Given the description of an element on the screen output the (x, y) to click on. 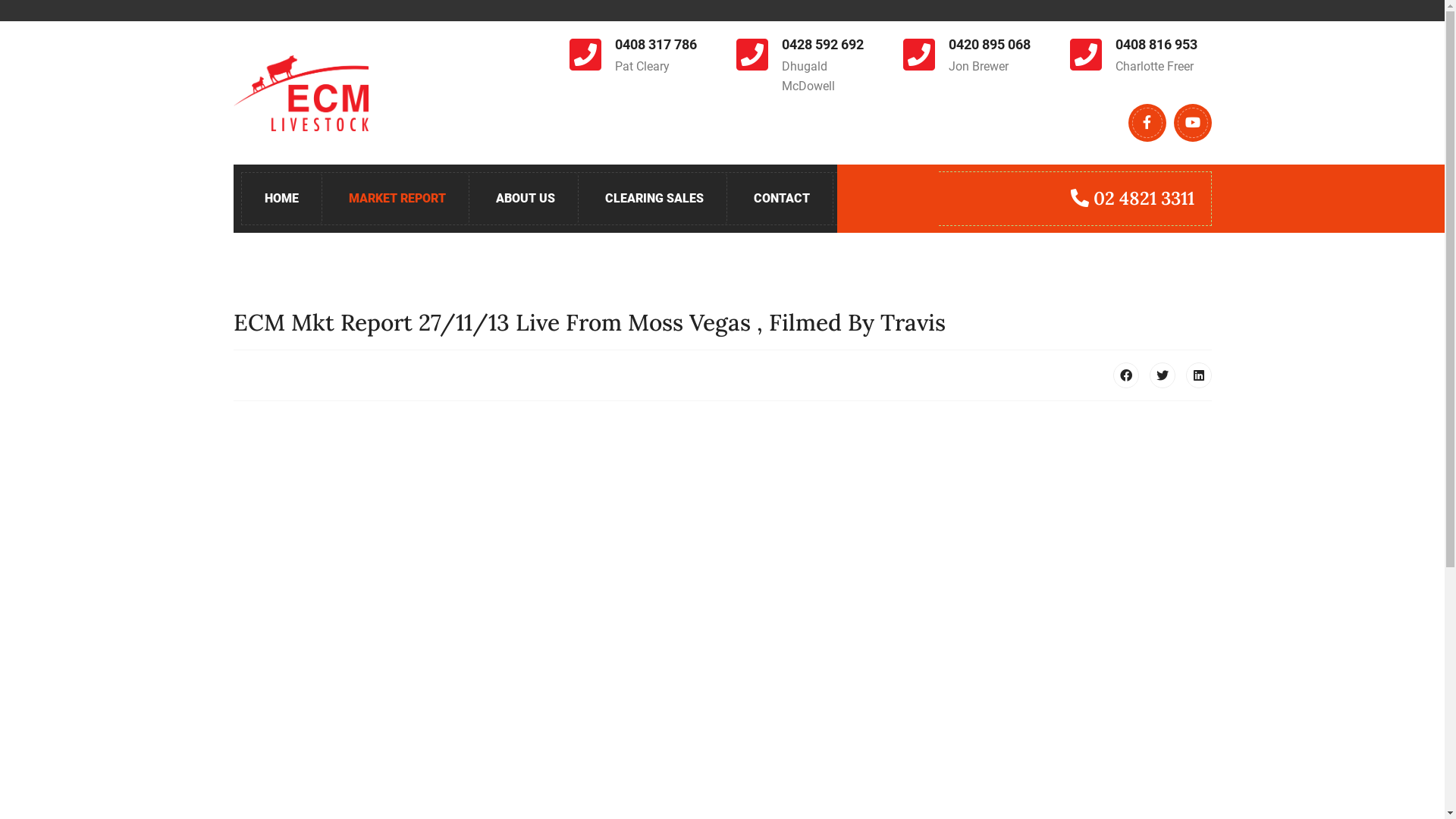
HOME Element type: text (281, 198)
02 4821 3311 Element type: text (1132, 198)
youtube Element type: hover (1191, 122)
CONTACT Element type: text (782, 198)
ABOUT US Element type: text (525, 198)
Twitter Element type: hover (1162, 375)
Facebook Element type: hover (1146, 122)
Facebook Element type: hover (1126, 375)
MARKET REPORT Element type: text (397, 198)
CLEARING SALES Element type: text (654, 198)
LinkedIn Element type: hover (1198, 375)
